Given the description of an element on the screen output the (x, y) to click on. 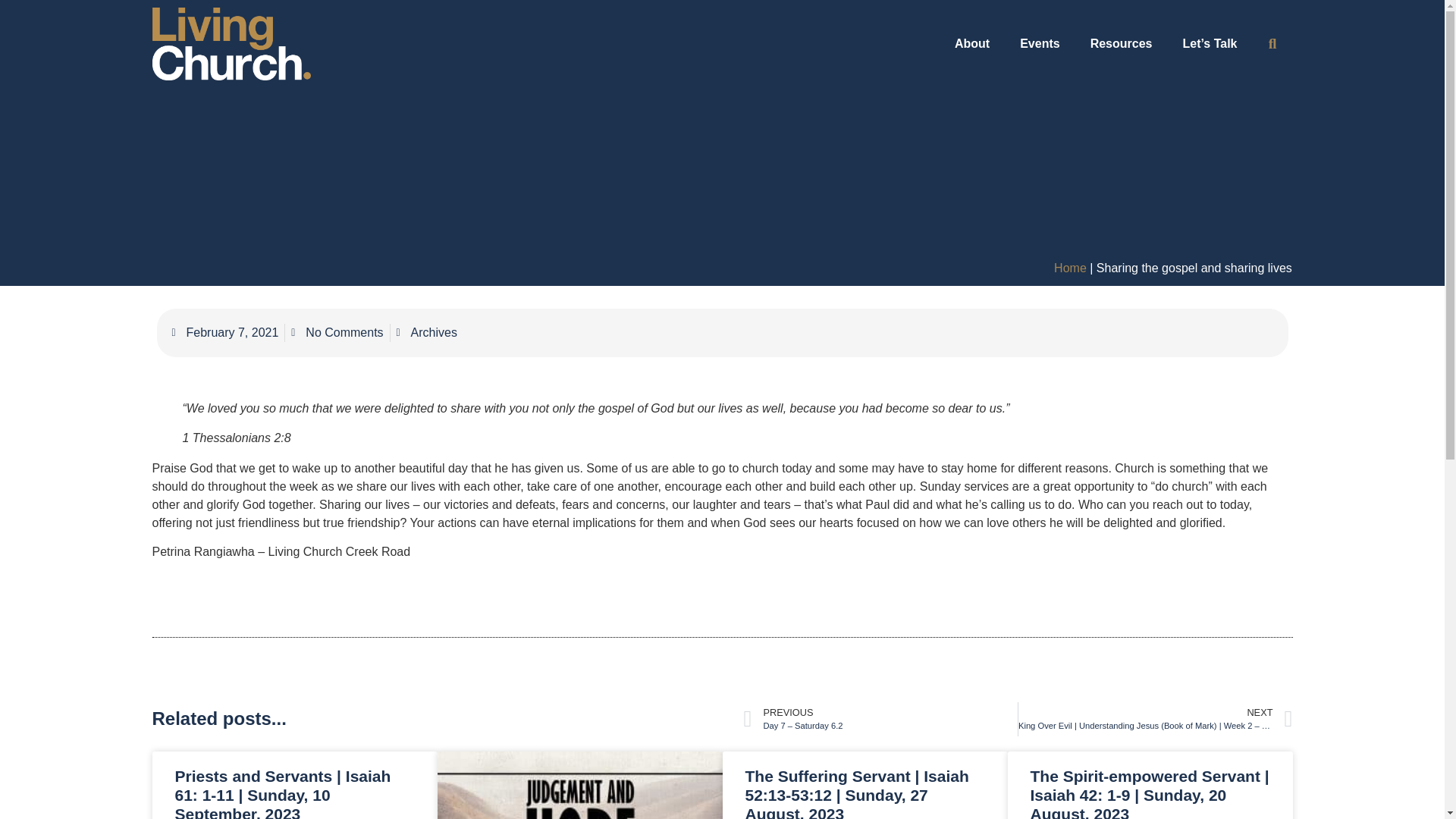
Archives (433, 332)
February 7, 2021 (224, 332)
Events (1039, 43)
Home (1070, 267)
Resources (1121, 43)
No Comments (336, 332)
About (971, 43)
